Given the description of an element on the screen output the (x, y) to click on. 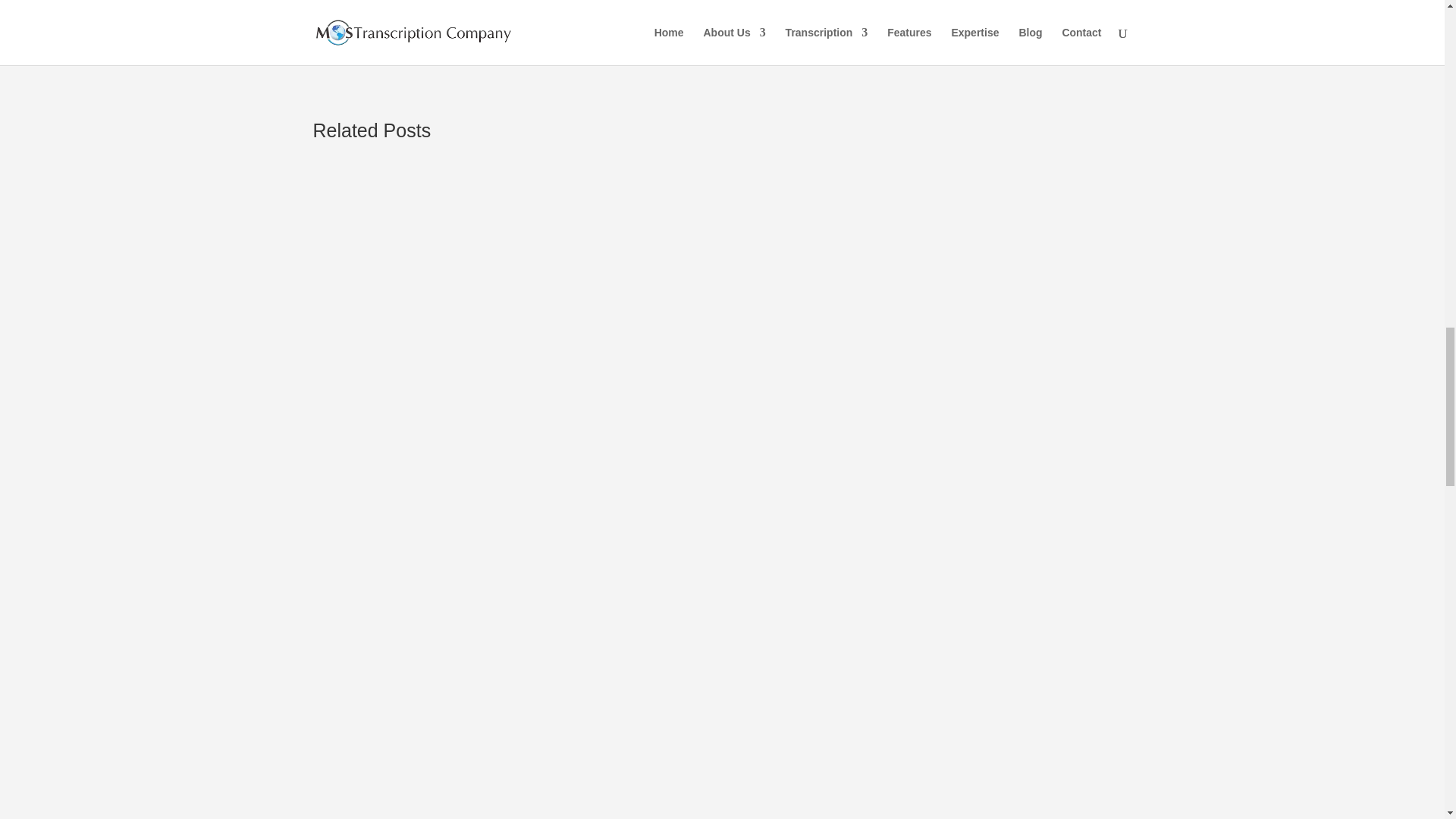
Digital Transcription Agencies (642, 11)
